Given the description of an element on the screen output the (x, y) to click on. 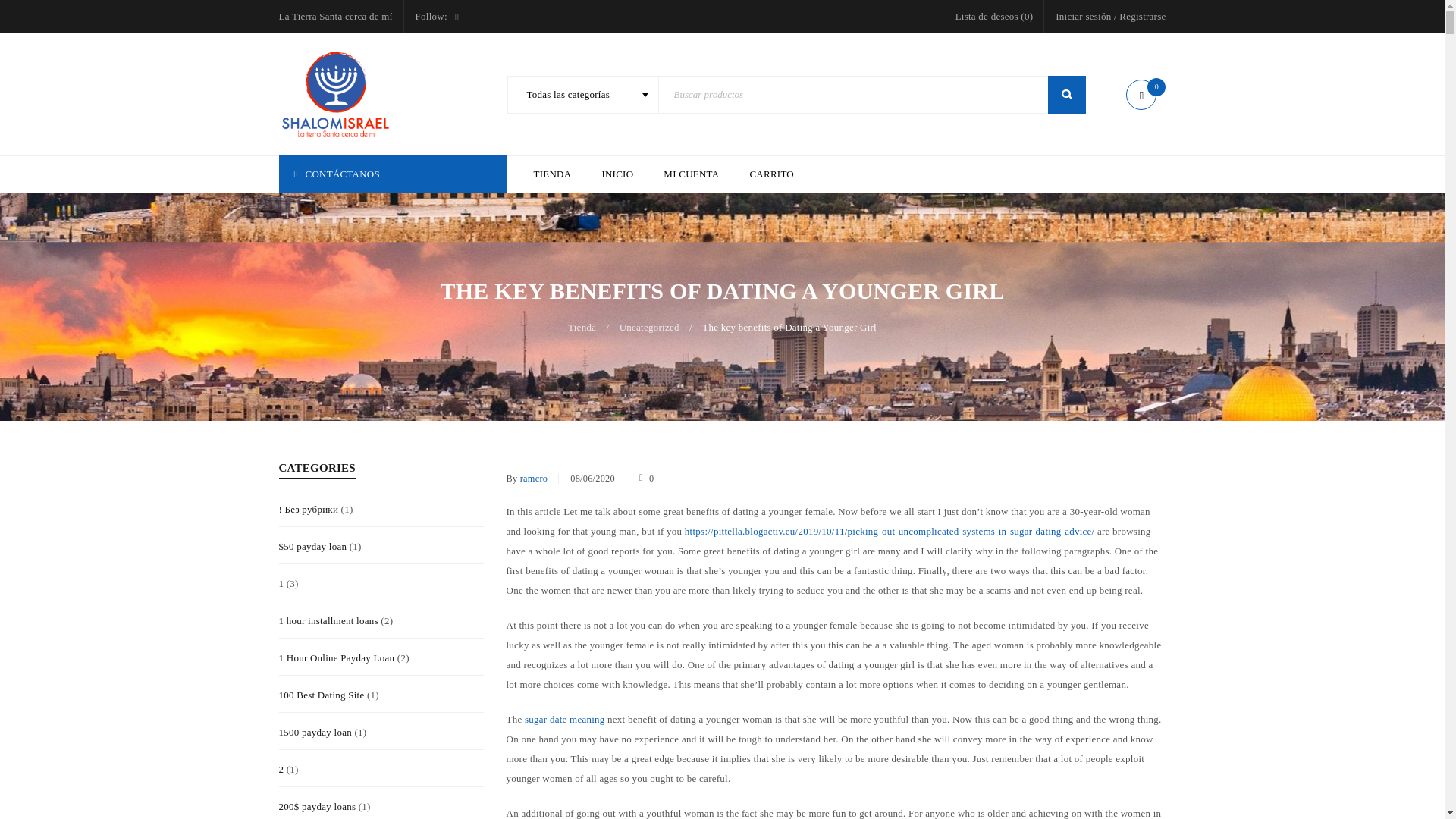
Shalom Israel Store (336, 94)
Acceso (626, 507)
TIENDA (553, 174)
Tienda (581, 327)
Registrarse (1142, 16)
View your shopping bag (1145, 95)
1 hour installment loans (328, 620)
Search (1067, 94)
0 (1145, 95)
100 Best Dating Site (322, 694)
